Given the description of an element on the screen output the (x, y) to click on. 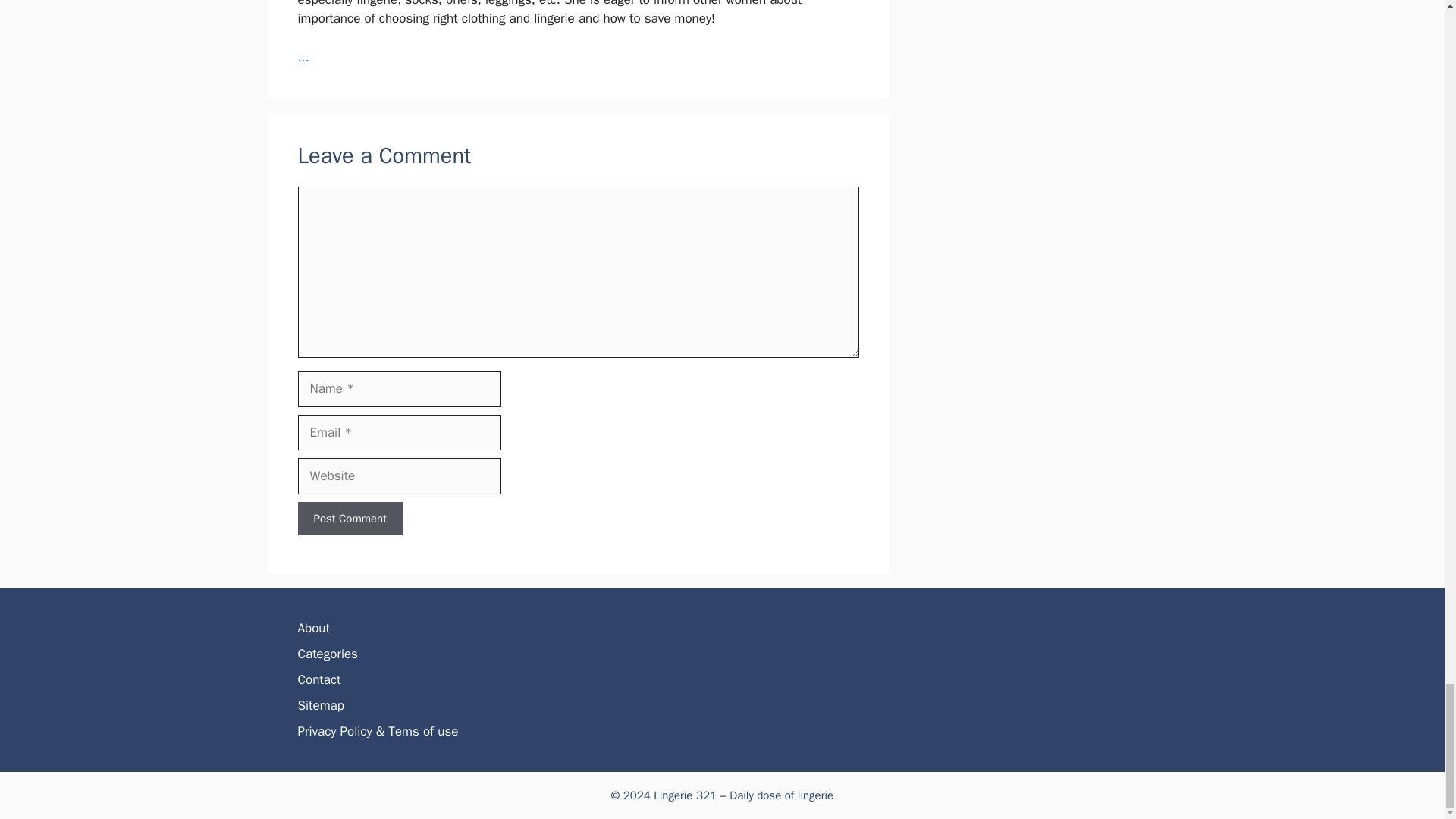
Post Comment (349, 519)
